Given the description of an element on the screen output the (x, y) to click on. 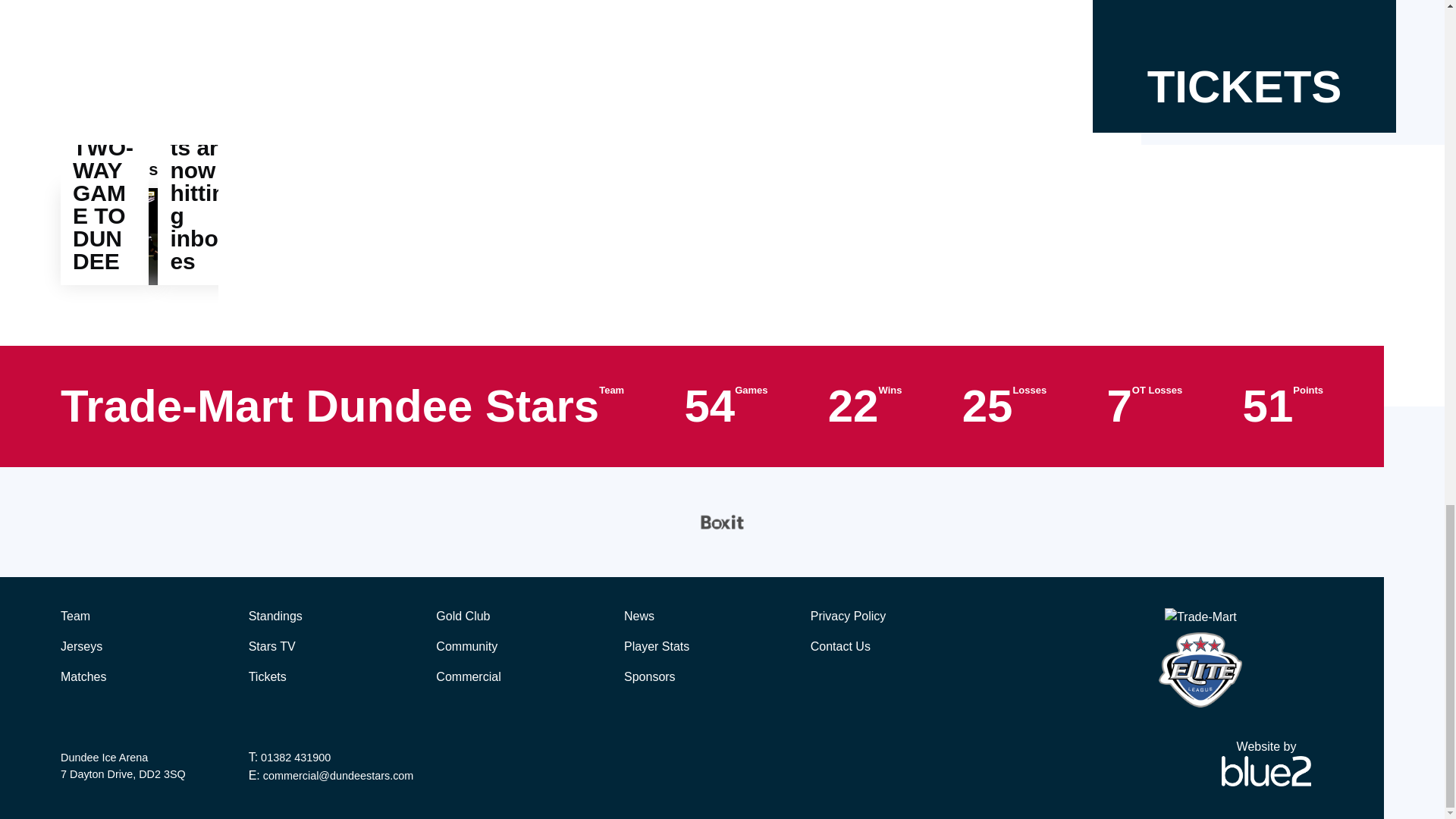
TICKETS (1244, 66)
Blue2 Digital Web Design (1266, 769)
